Given the description of an element on the screen output the (x, y) to click on. 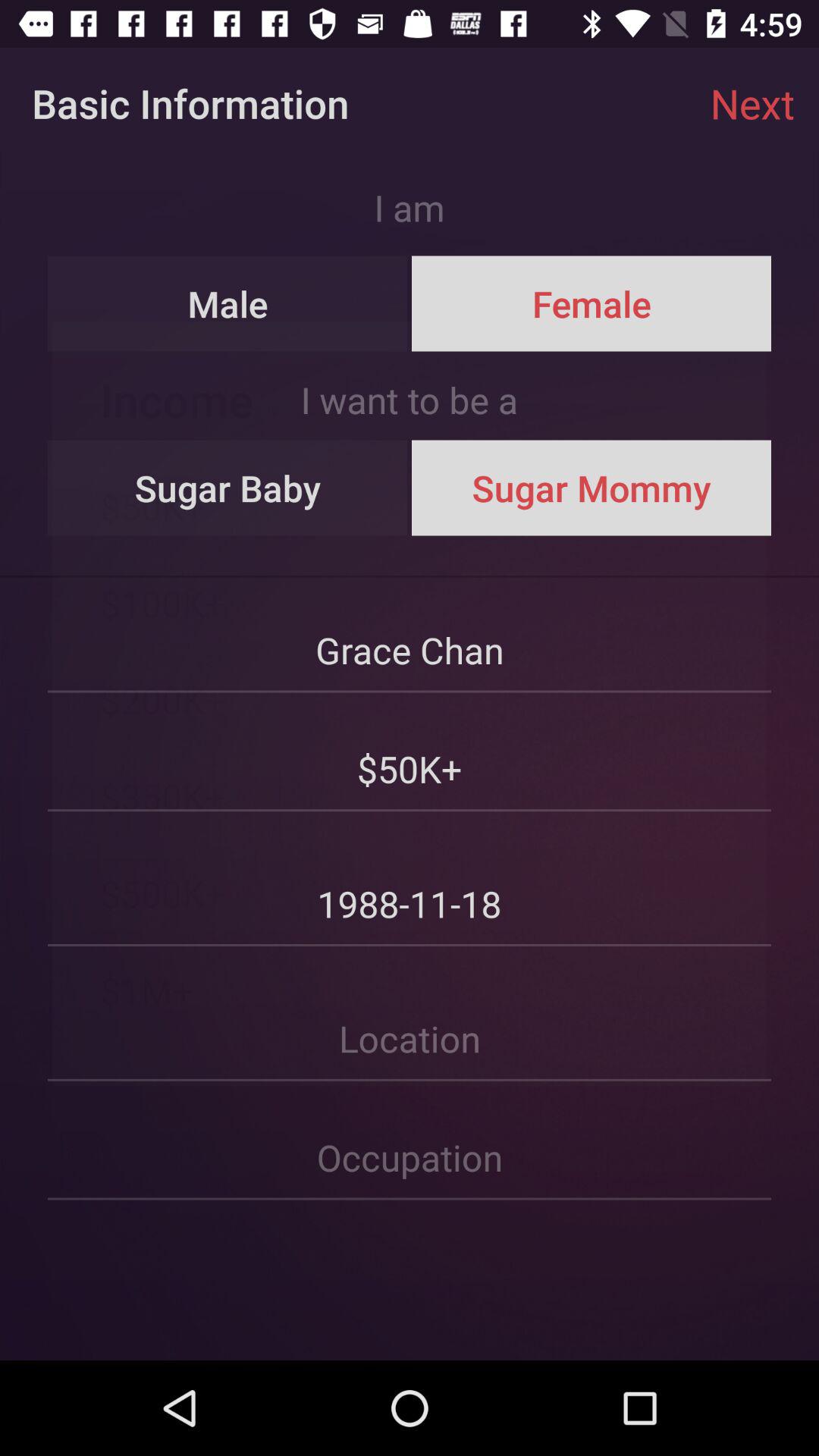
input your location (409, 1014)
